Given the description of an element on the screen output the (x, y) to click on. 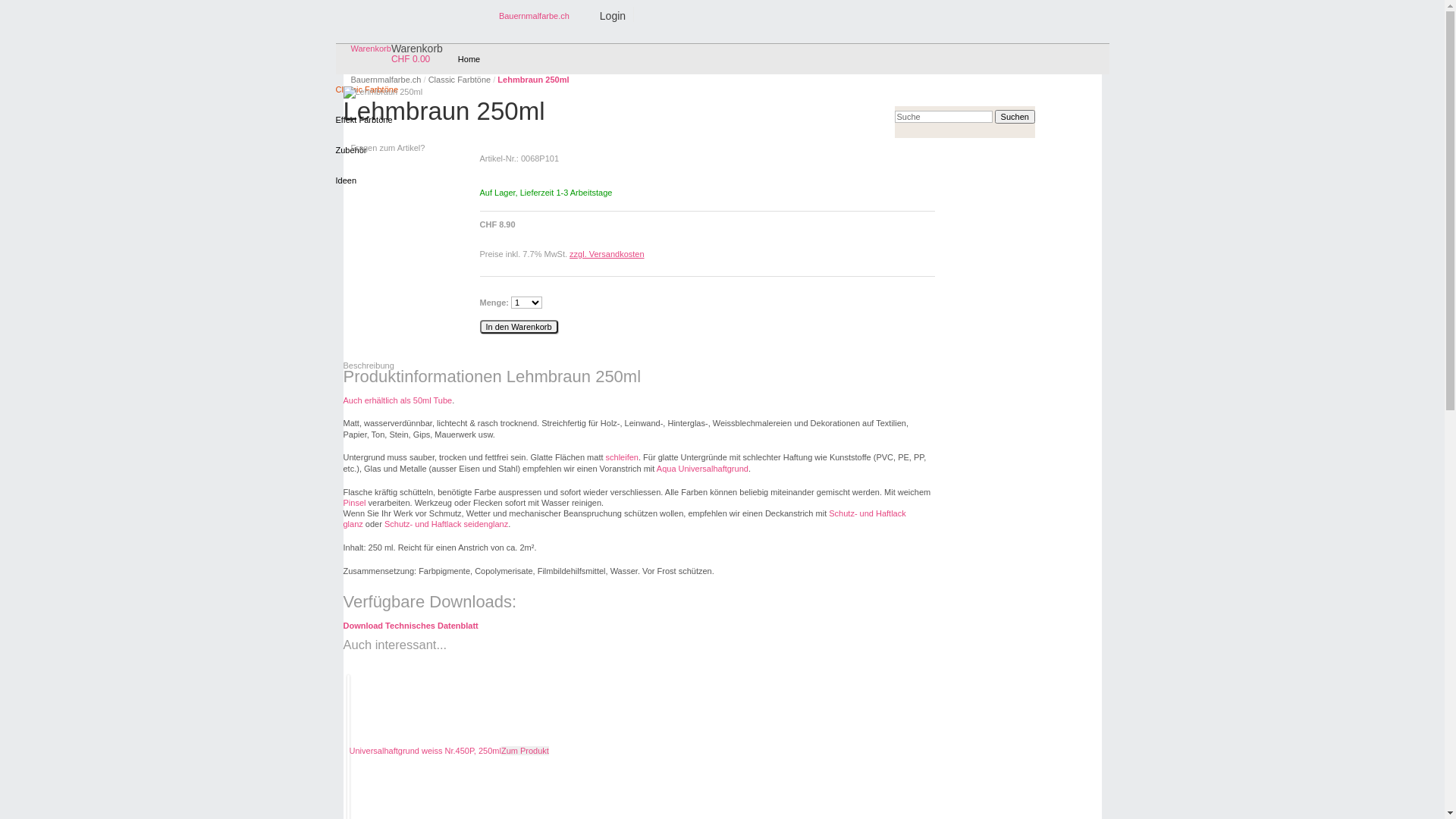
Schutz- und Haftlack glanz Element type: text (623, 518)
Lehmbraun 250ml in den Warenkorb Element type: hover (518, 326)
Zum Produkt Element type: text (525, 750)
Download Technisches Datenblatt Element type: text (409, 625)
Fragen zum Artikel? Element type: text (387, 147)
Warenkorb Element type: text (370, 48)
schleifen Element type: text (621, 456)
Beschreibung Element type: text (367, 365)
Suchen Element type: text (1014, 116)
Universalhaftgrund weiss Nr.450P, 250ml Element type: text (425, 750)
zzgl. Versandkosten Element type: text (606, 253)
Bauernmalfarbe.ch Element type: text (386, 79)
Bauernmalfarbe.ch Element type: text (533, 15)
Lehmbraun 250ml Element type: text (532, 79)
Ideen Element type: text (345, 180)
In den Warenkorb Element type: text (518, 326)
  Element type: text (343, 354)
Home Element type: text (469, 58)
Schutz- und Haftlack seidenglanz Element type: text (446, 523)
Aqua Universalhaftgrund Element type: text (702, 468)
Warenkorb Element type: text (416, 48)
Lehmbraun 250ml Element type: hover (382, 92)
Pinsel Element type: text (353, 502)
Lehmbraun 250ml Element type: hover (382, 91)
Login Element type: text (605, 13)
